Given the description of an element on the screen output the (x, y) to click on. 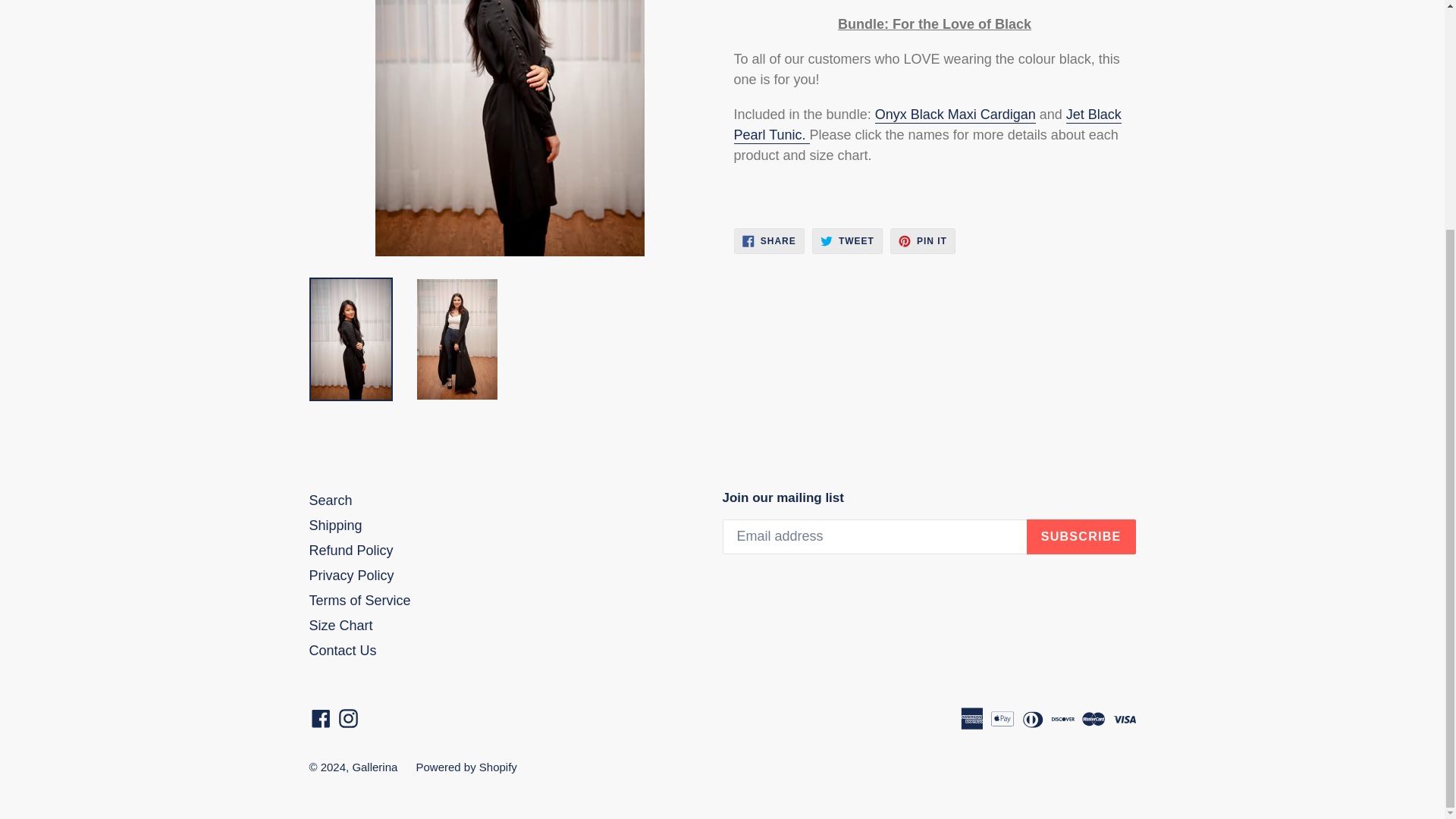
Share on Facebook (769, 240)
Tweet on Twitter (847, 240)
Gallerina  on Instagram (347, 717)
Gallerina  on Facebook (320, 717)
Pin on Pinterest (922, 240)
